Given the description of an element on the screen output the (x, y) to click on. 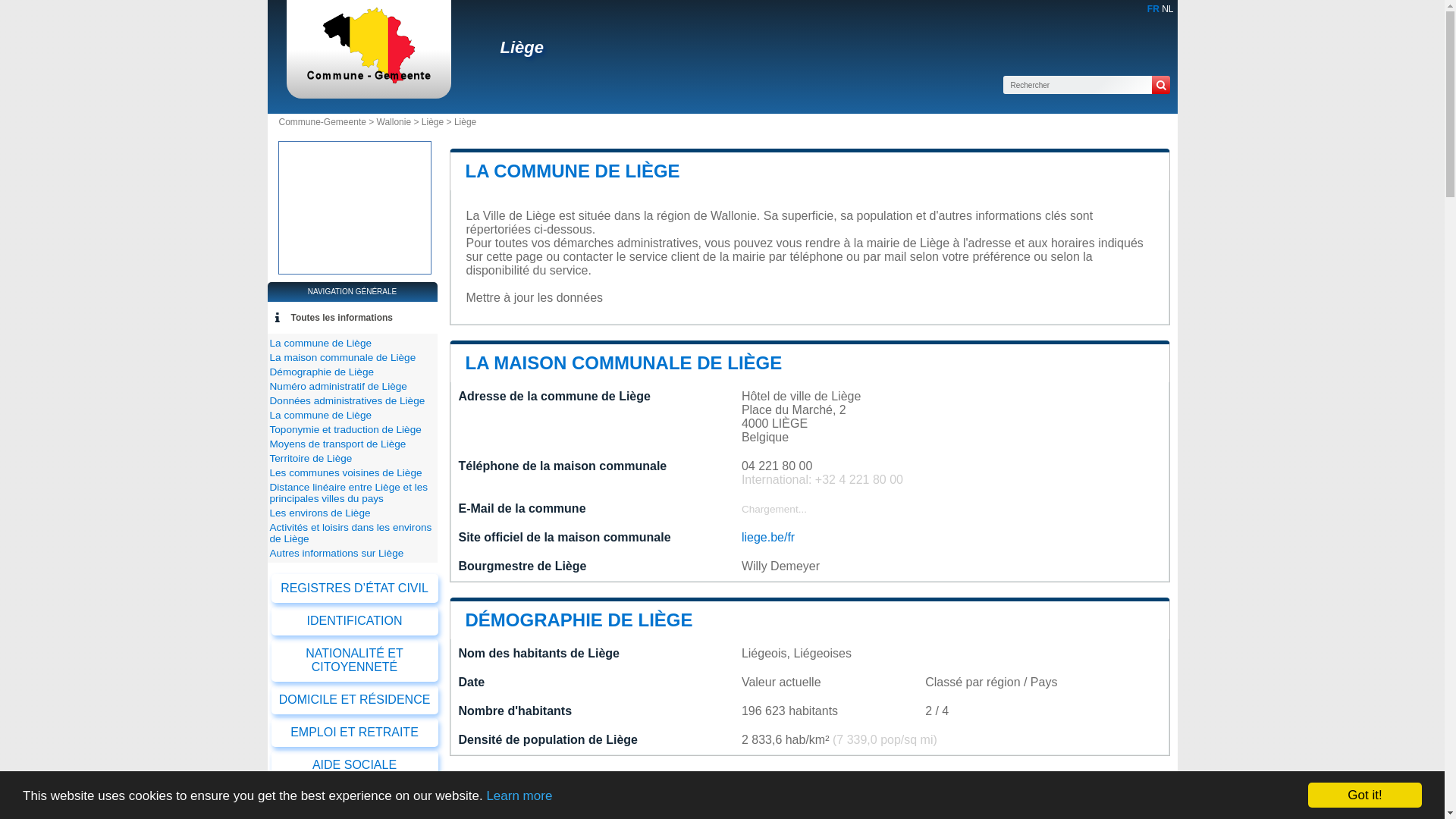
EMPLOI ET RETRAITE Element type: text (354, 732)
NL Element type: text (1167, 8)
AUTOMOBILE Element type: text (354, 797)
Got it! Element type: text (1364, 794)
Learn more Element type: text (519, 795)
Wallonie Element type: text (393, 121)
Rechercher Element type: text (1160, 84)
Toutes les informations Element type: text (341, 317)
AIDE SOCIALE Element type: text (354, 764)
liege.be/fr Element type: text (767, 536)
Commune-Gemeente > Element type: text (327, 121)
Commune-Gemeente Element type: hover (368, 78)
IDENTIFICATION Element type: text (354, 620)
